Given the description of an element on the screen output the (x, y) to click on. 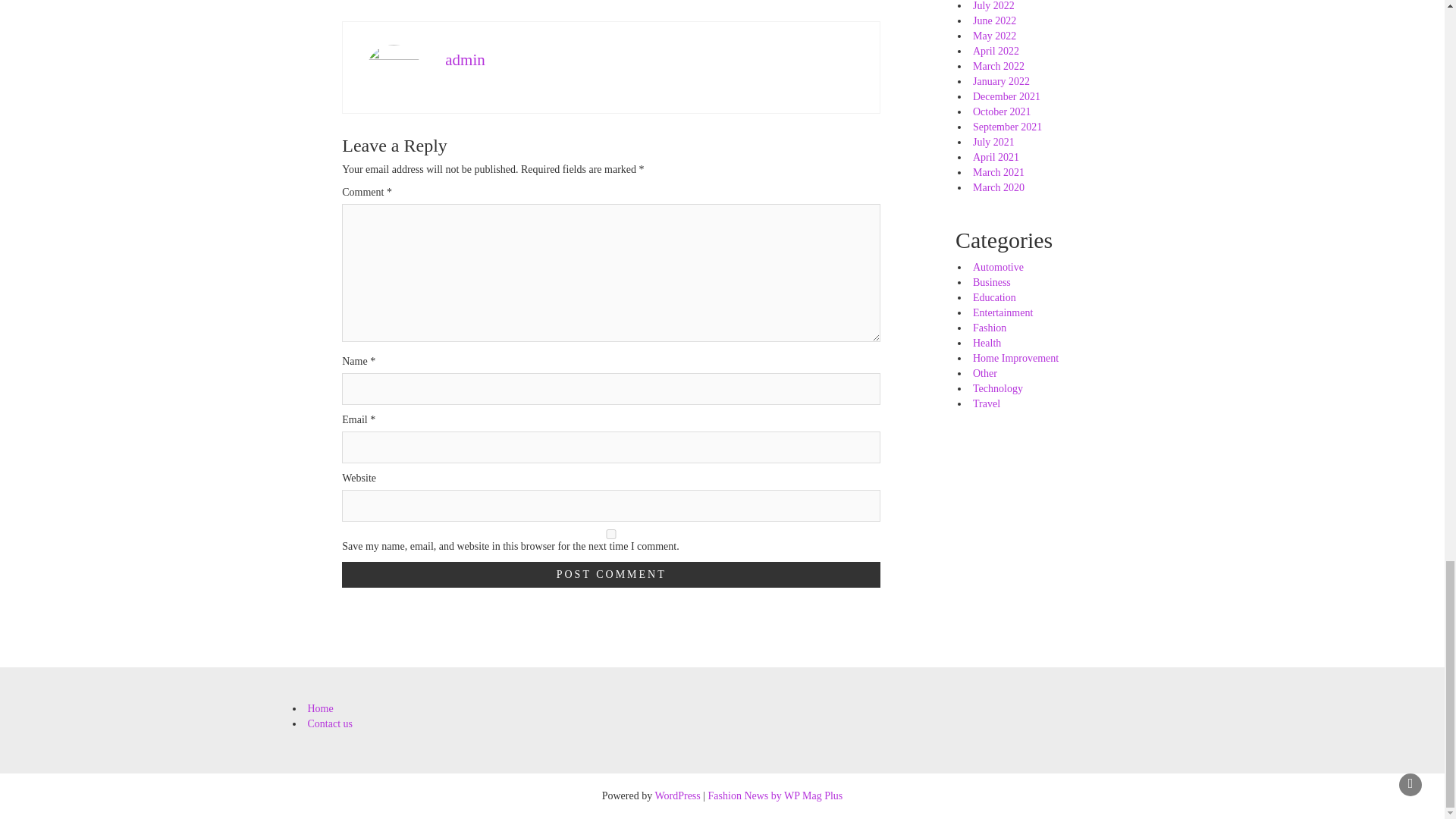
Post Comment (611, 574)
admin (464, 59)
yes (611, 533)
Post Comment (611, 574)
